Given the description of an element on the screen output the (x, y) to click on. 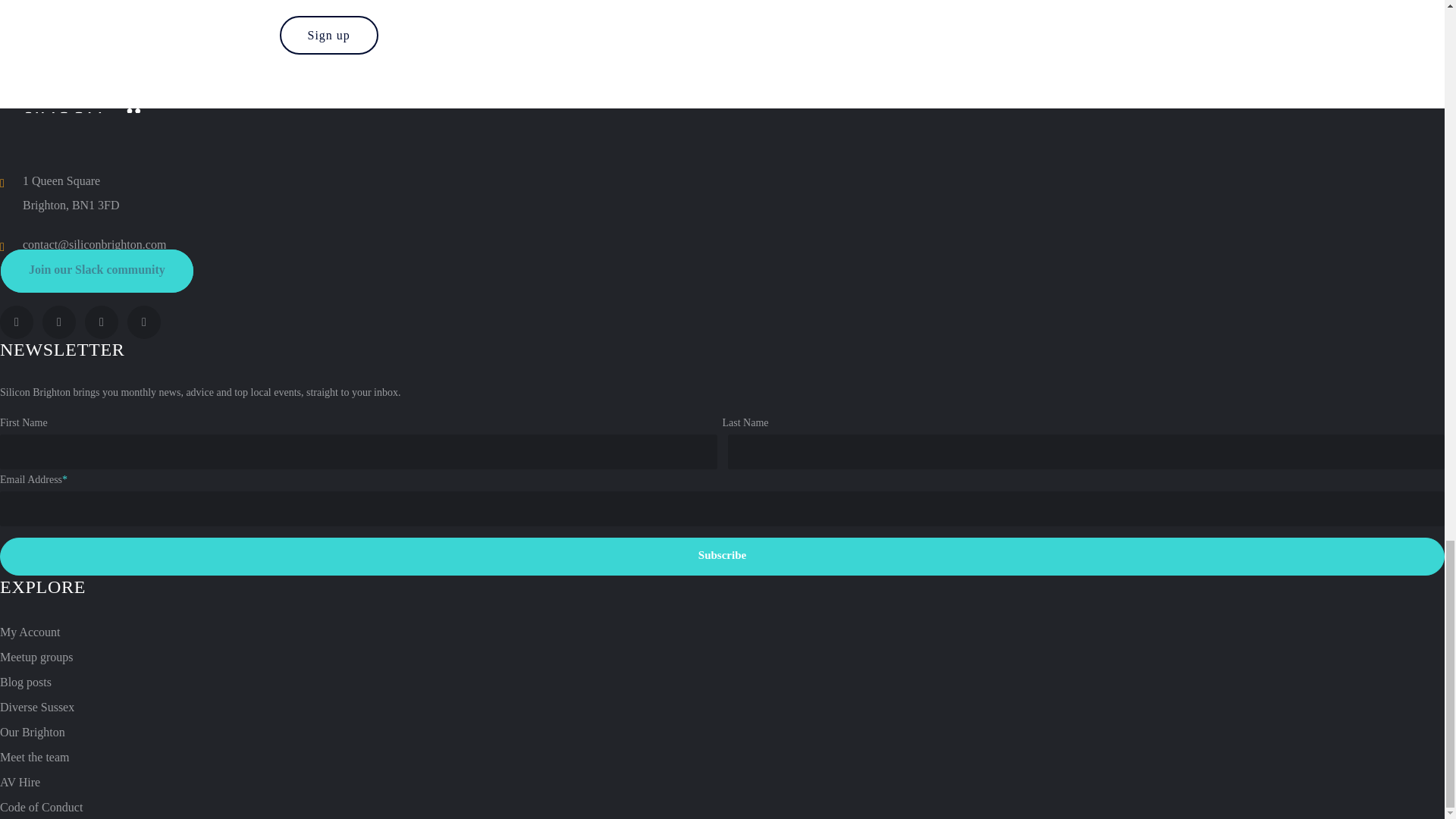
Meetup groups (36, 656)
My Account (30, 631)
Join our Slack community (97, 270)
Our Brighton (32, 731)
Diverse Sussex (37, 707)
Blog posts (25, 681)
Sign up (328, 34)
